Given the description of an element on the screen output the (x, y) to click on. 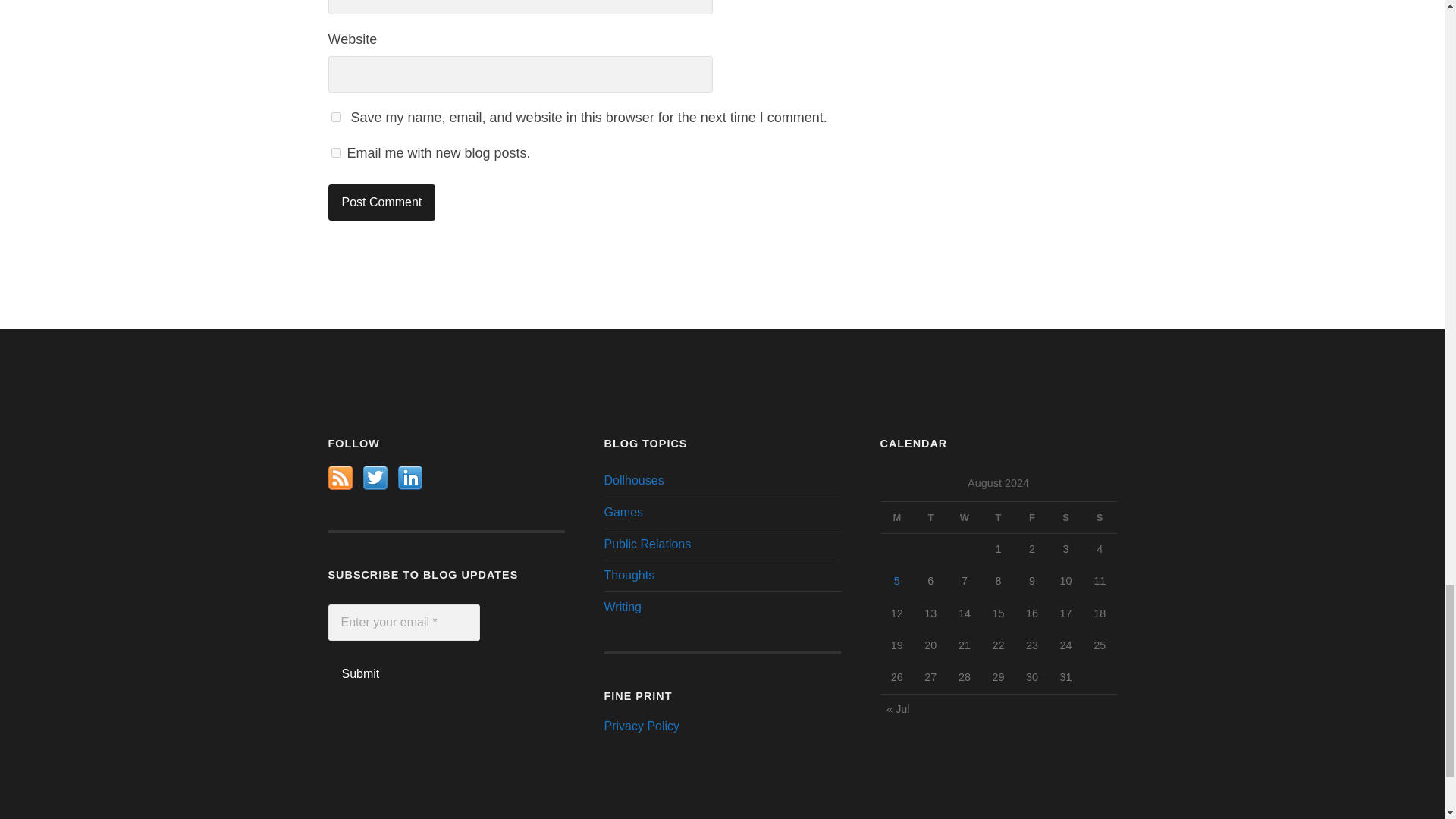
Thursday (997, 517)
Enter your email (403, 622)
yes (335, 117)
1 (335, 153)
Tuesday (930, 517)
Post Comment (381, 202)
Wednesday (964, 517)
Submit (360, 674)
Friday (1031, 517)
Post Comment (381, 202)
